Given the description of an element on the screen output the (x, y) to click on. 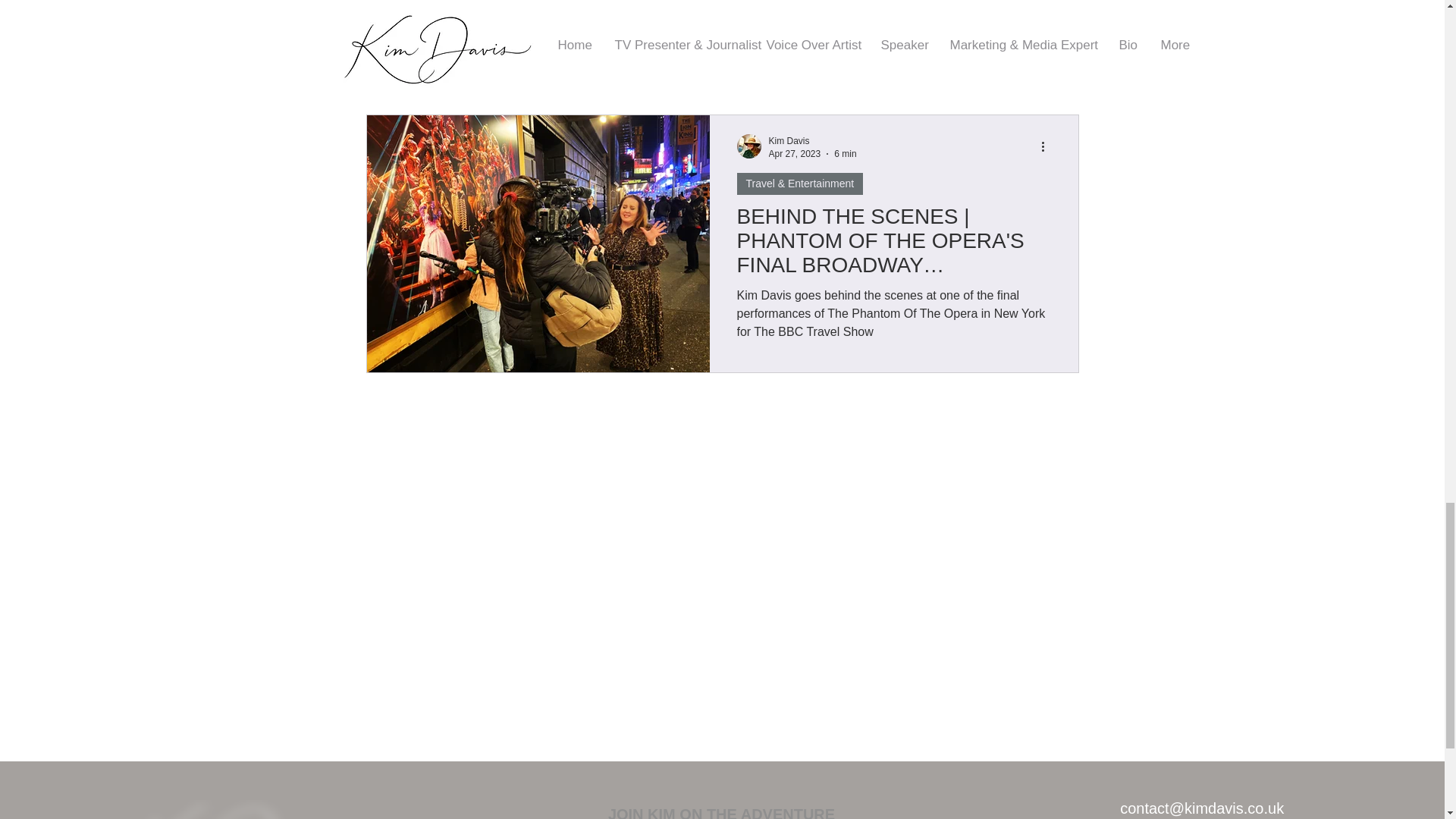
Kim Davis (812, 140)
JOIN KIM ON THE ADVENTURE (720, 809)
Apr 27, 2023 (794, 153)
6 min (845, 153)
Kim Davis (788, 140)
All Posts (387, 69)
